Given the description of an element on the screen output the (x, y) to click on. 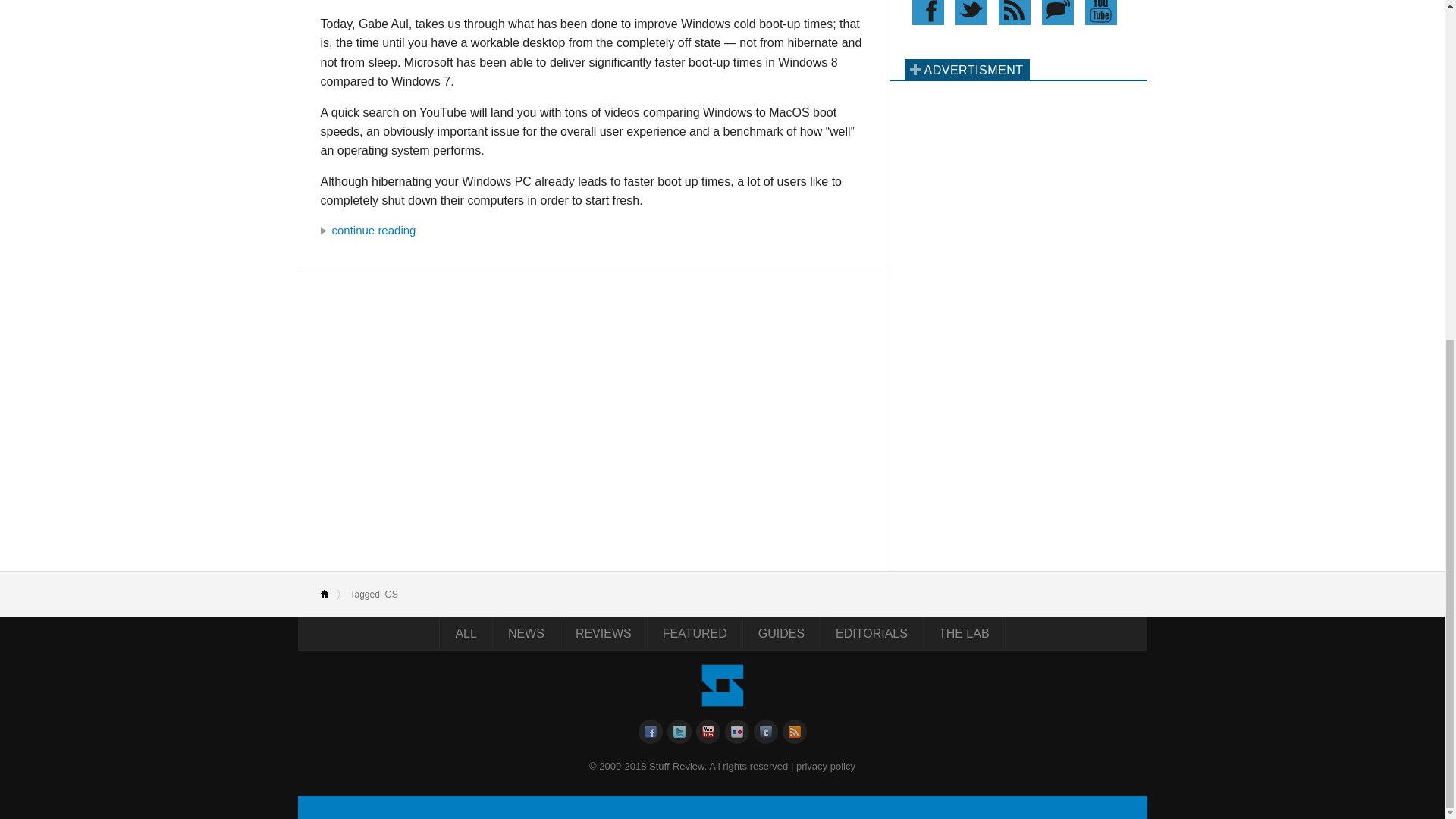
Subscribe to our article RSS feed (1013, 12)
continue reading (593, 230)
Become our Facebook friend (927, 12)
